Given the description of an element on the screen output the (x, y) to click on. 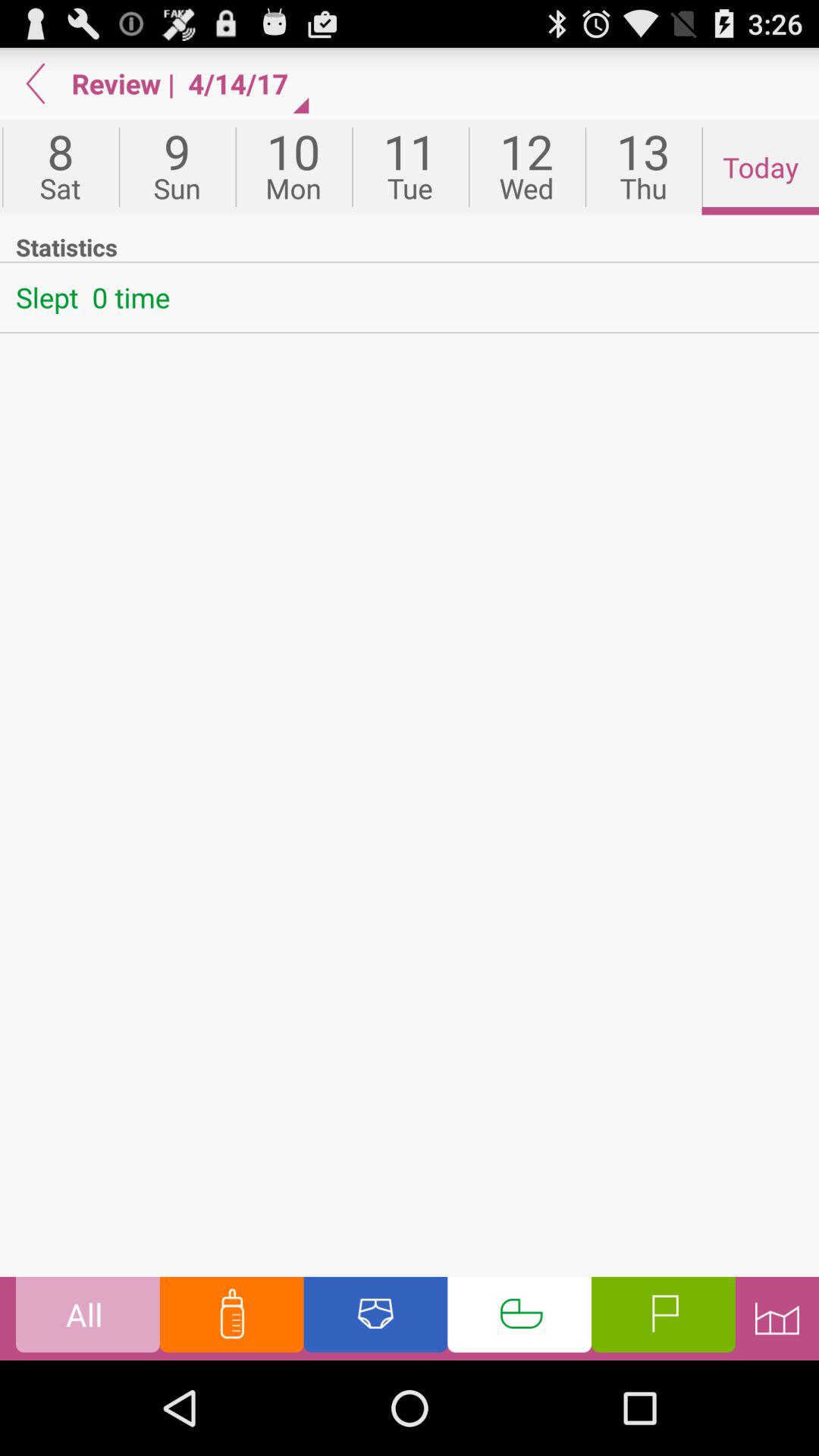
go to previous (35, 83)
